Given the description of an element on the screen output the (x, y) to click on. 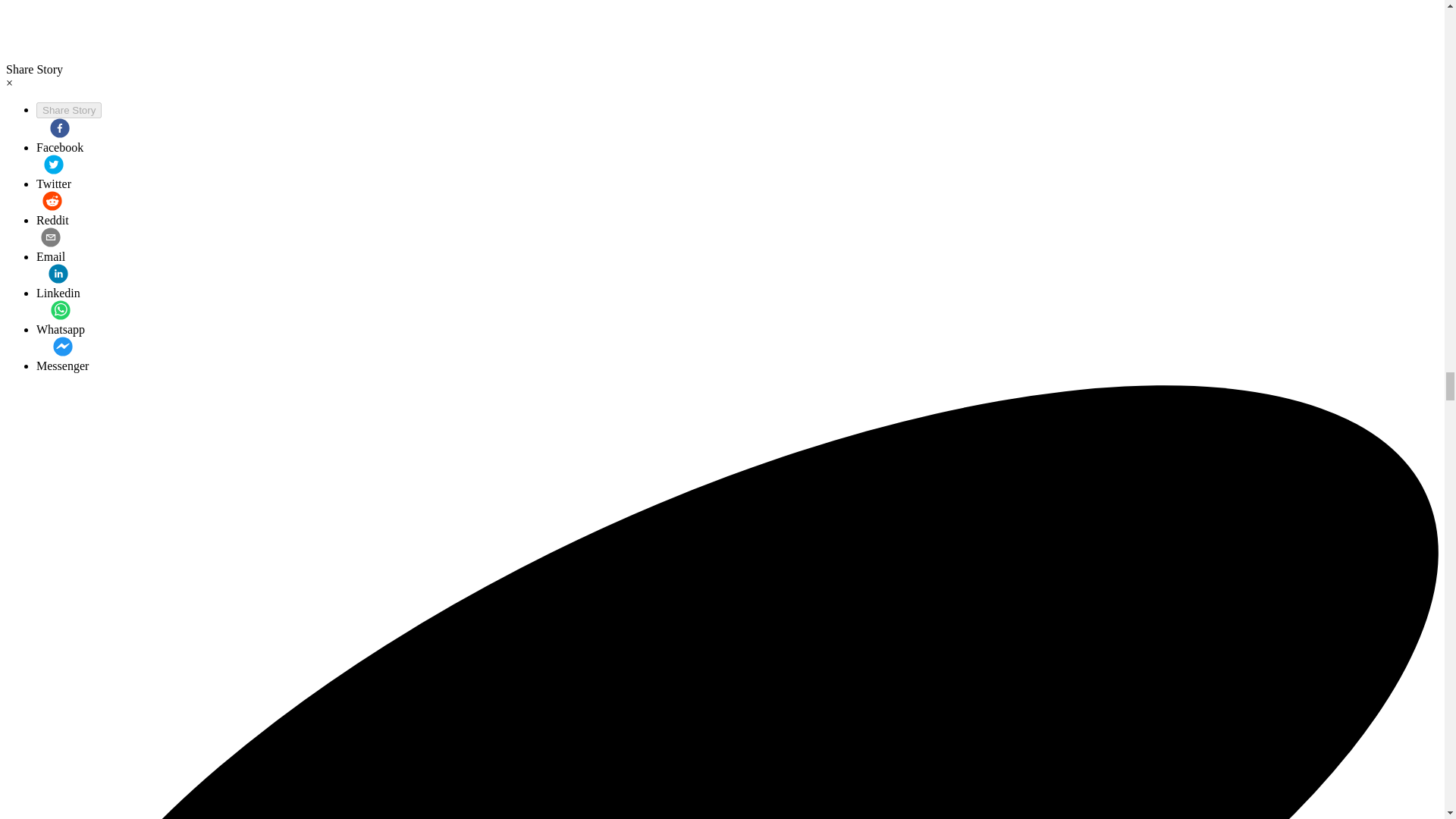
Facebook (59, 135)
Share Story (68, 109)
The Sunday Essay: In praise of swimming (62, 354)
